Given the description of an element on the screen output the (x, y) to click on. 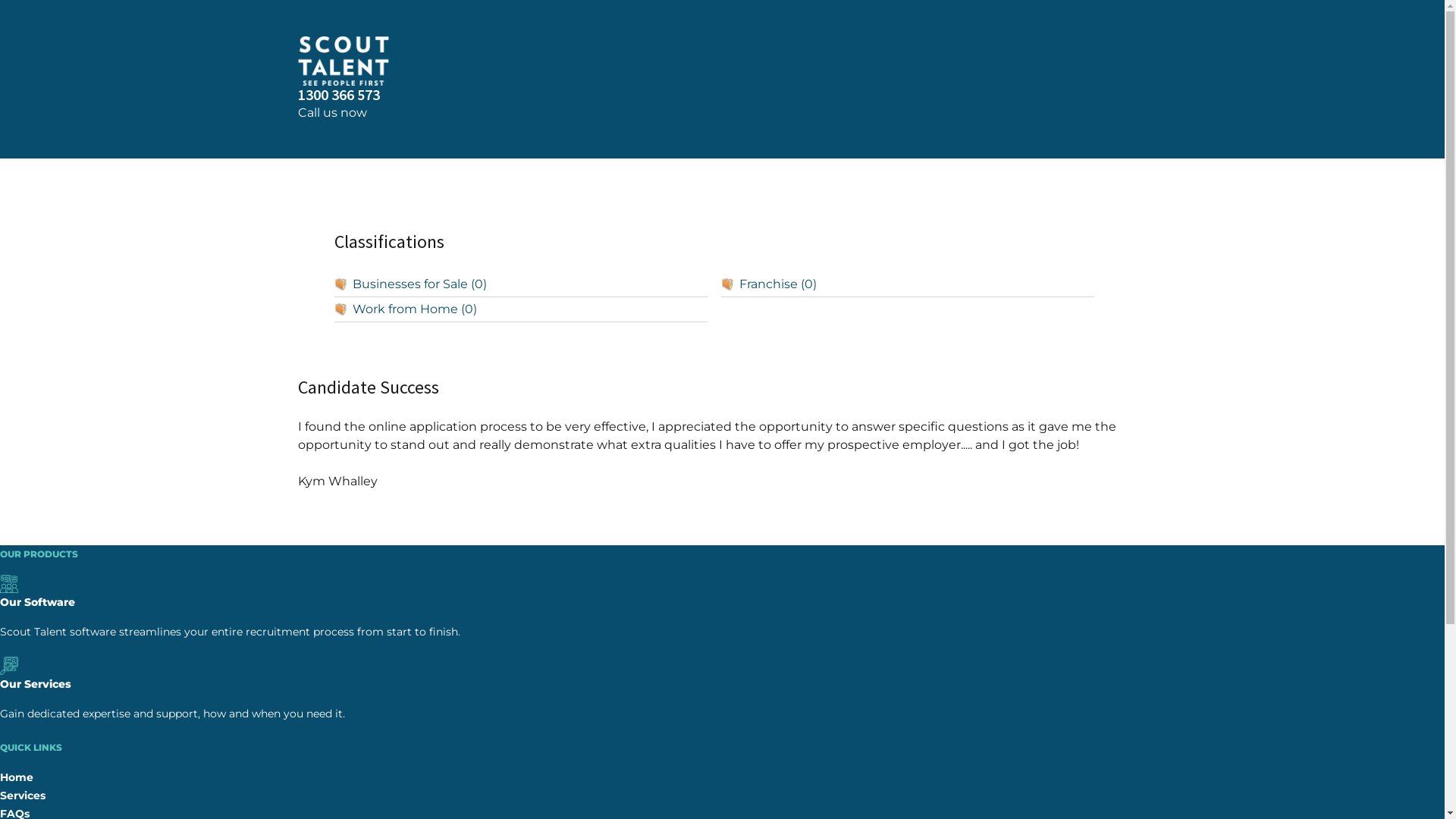
Work from Home (0) Element type: text (519, 309)
Scout Talent Element type: hover (721, 60)
Businesses for Sale (0) Element type: text (519, 284)
Franchise (0) Element type: text (907, 284)
Home Element type: text (16, 777)
Services Element type: text (22, 795)
